Given the description of an element on the screen output the (x, y) to click on. 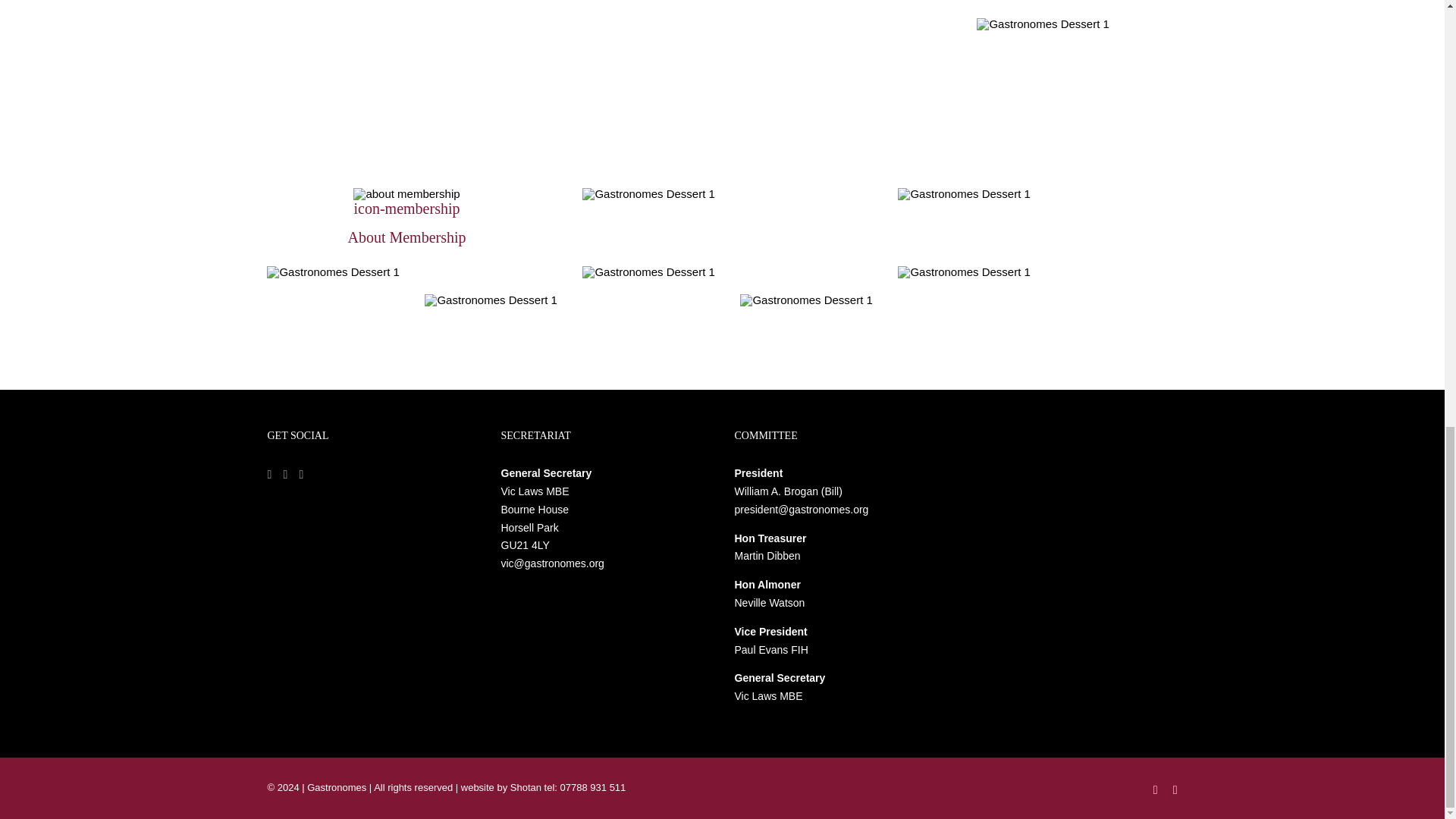
home-dessert1 (648, 193)
icon-membership (406, 193)
home-dessert1 (648, 272)
home-dessert1 (963, 193)
home-dessert1 (332, 272)
home-dessert1 (1042, 24)
home-dessert1 (805, 300)
home-dessert1 (490, 300)
home-dessert1 (963, 272)
